Given the description of an element on the screen output the (x, y) to click on. 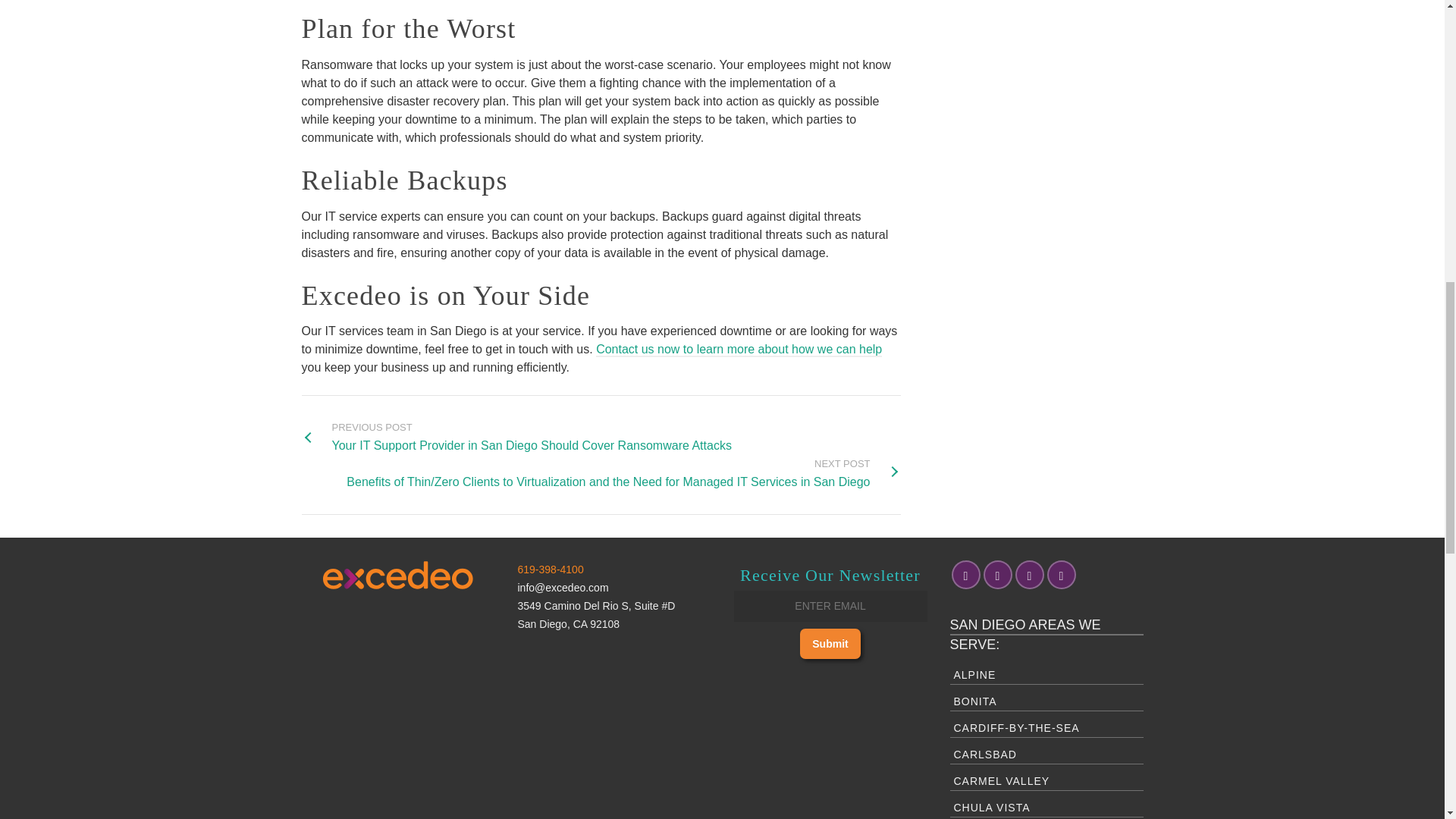
Submit (829, 643)
